Given the description of an element on the screen output the (x, y) to click on. 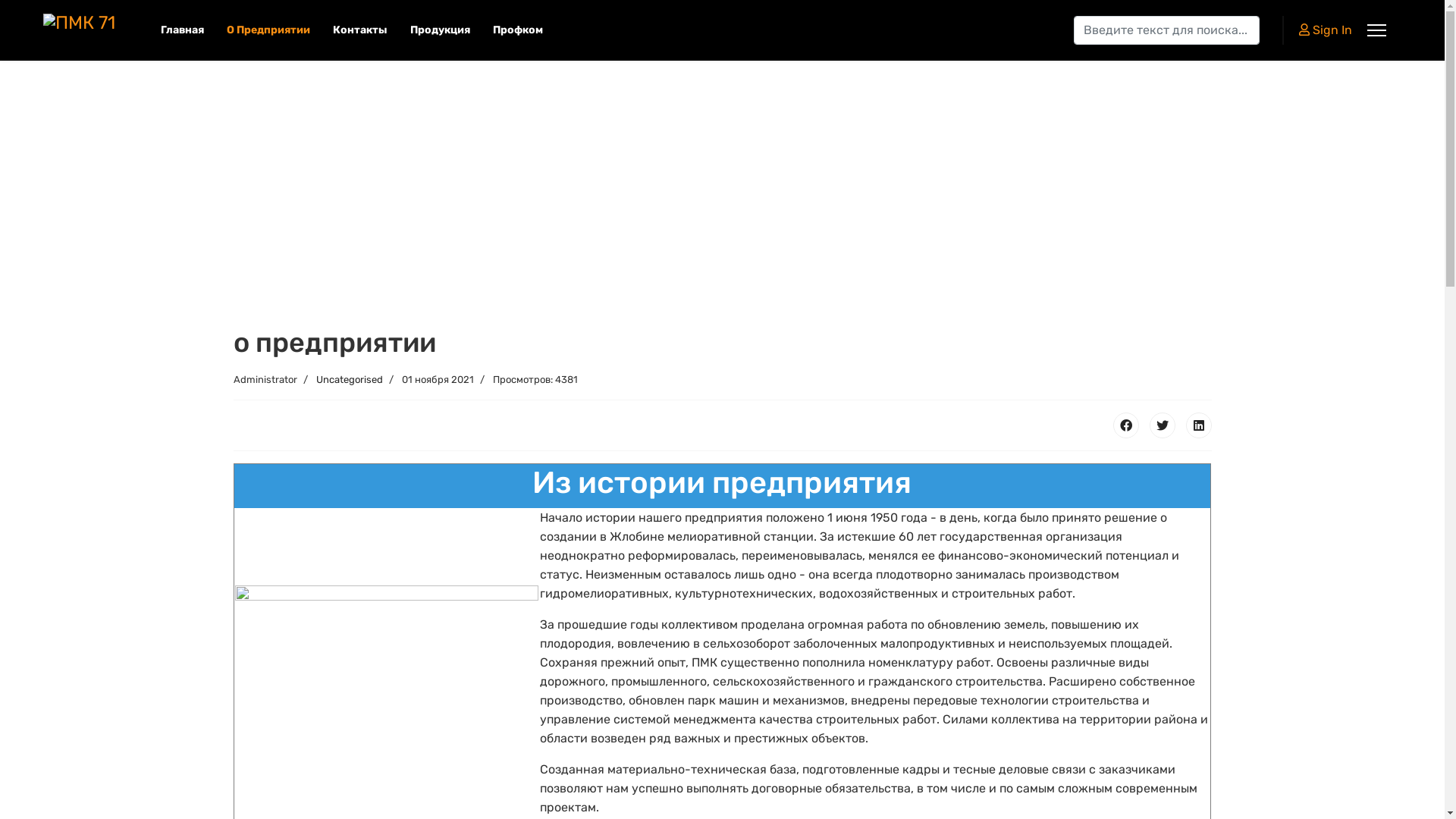
Uncategorised Element type: text (348, 379)
Sign In Element type: text (1325, 29)
LinkedIn Element type: hover (1198, 425)
Twitter Element type: hover (1162, 425)
Facebook Element type: hover (1126, 425)
Menu Element type: hover (1376, 30)
